Given the description of an element on the screen output the (x, y) to click on. 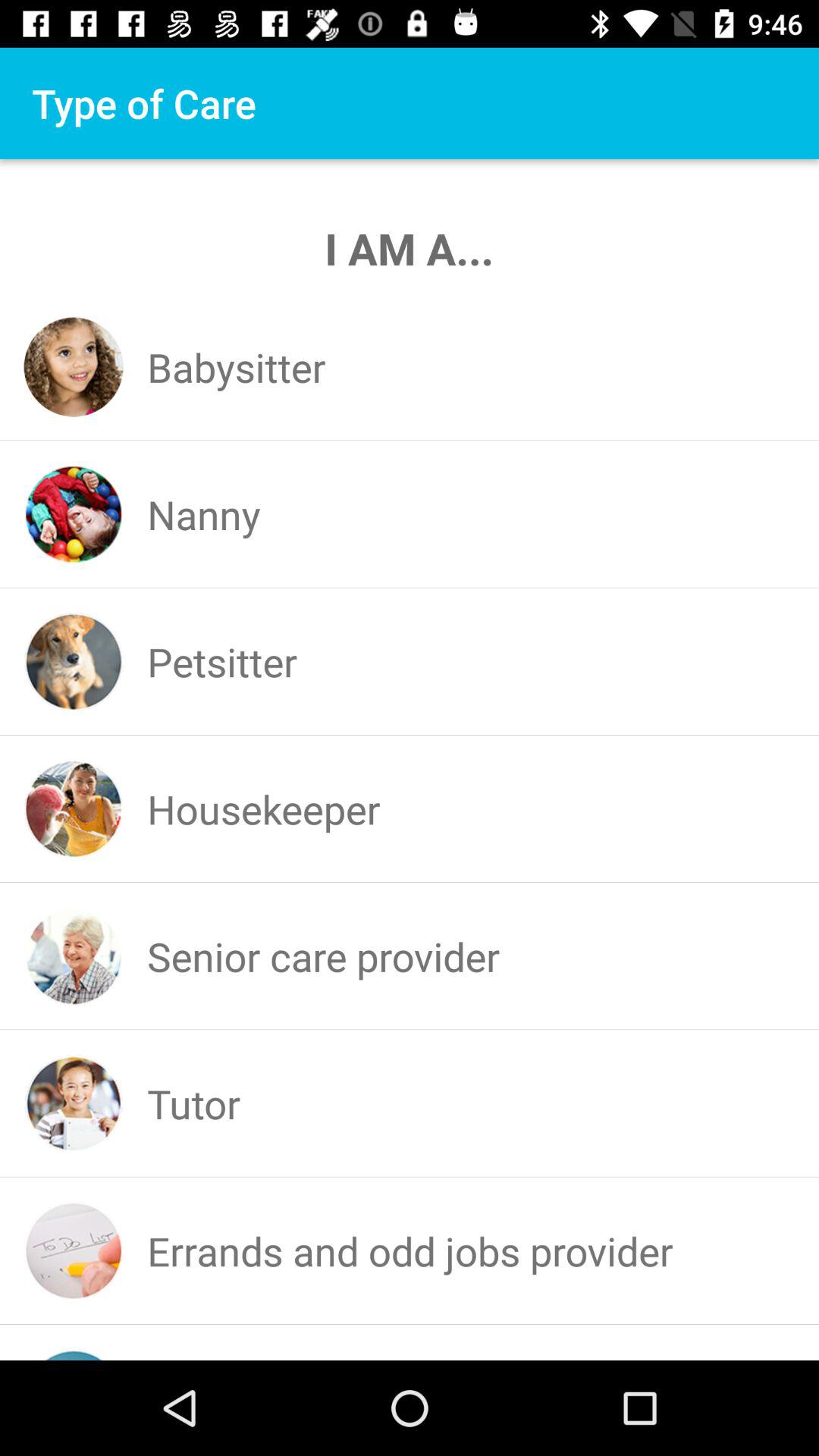
go to icon in seventh option (73, 1250)
click on tutor profile picture (73, 1103)
select the icon which is before the petsitter (73, 661)
select the image which is left to text housekeeper (73, 808)
click on the image which is left to senior care provider (73, 956)
